Given the description of an element on the screen output the (x, y) to click on. 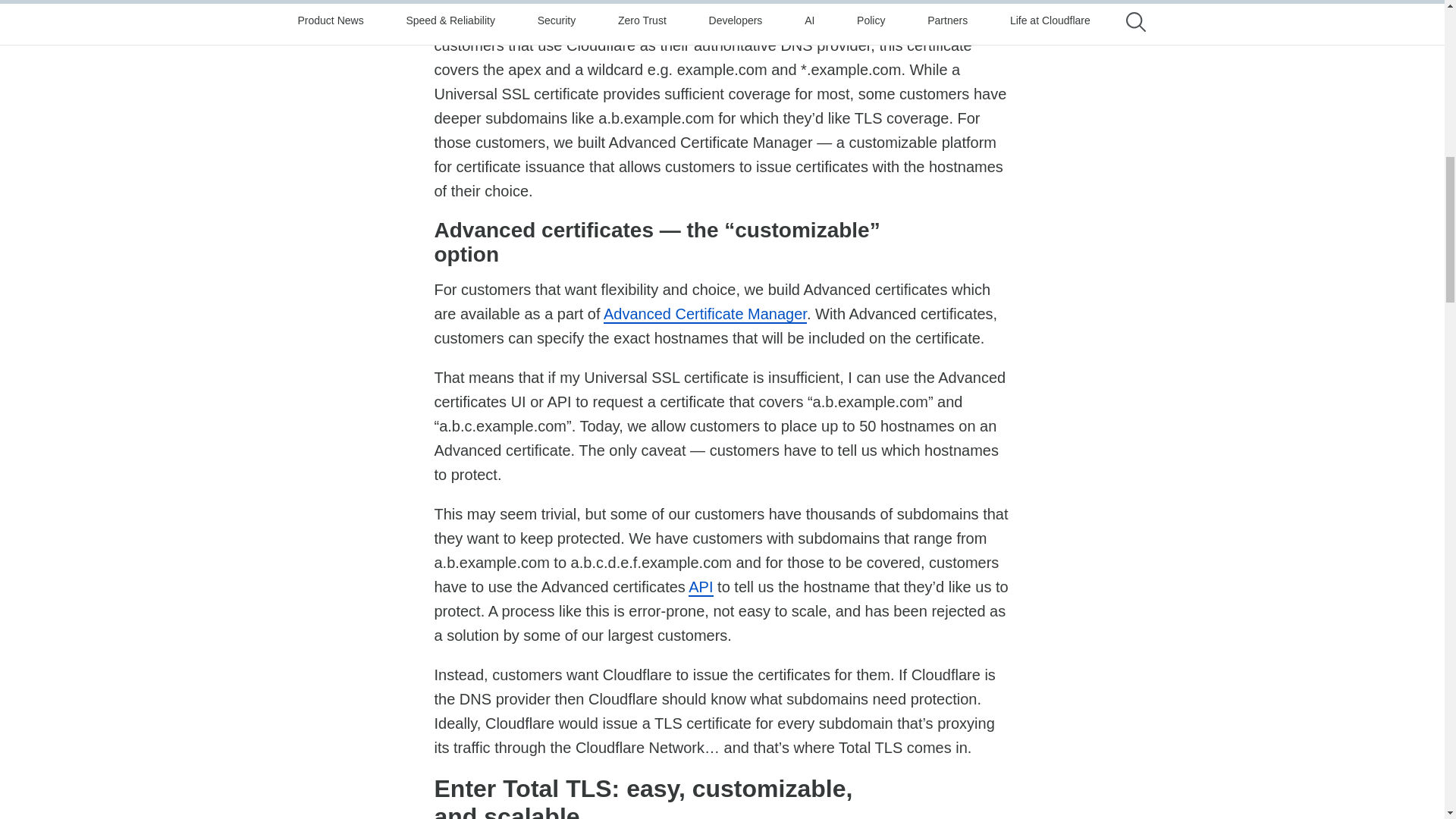
Advanced Certificate Manager (705, 314)
Universal SSL (643, 3)
API (700, 587)
